Given the description of an element on the screen output the (x, y) to click on. 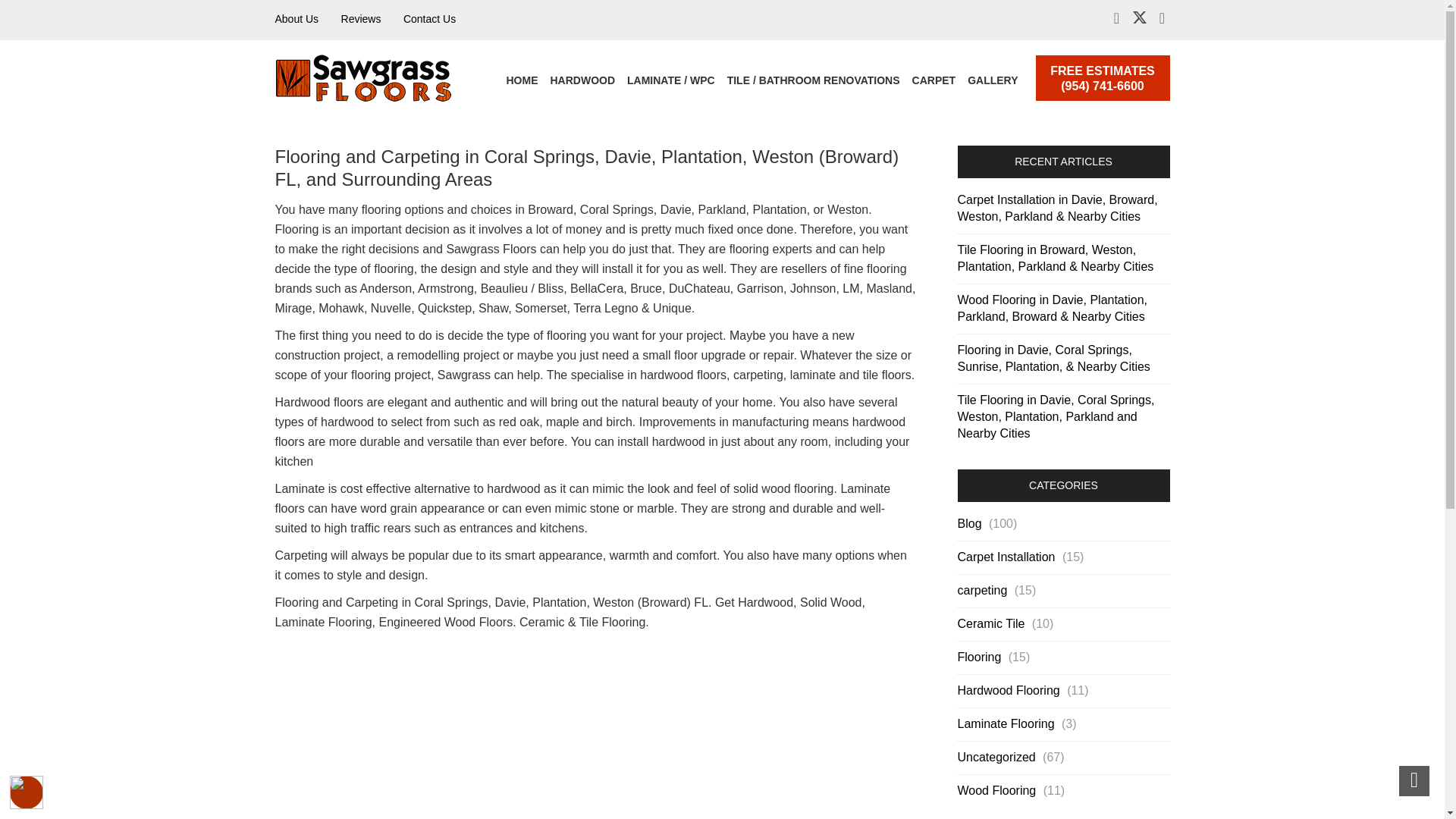
Twitter (1139, 20)
About Us (296, 19)
Contact Us (429, 19)
Carpet Installation (1007, 556)
HOME (522, 80)
Hardwood Flooring (1009, 690)
HARDWOOD (582, 80)
Laminate Flooring (1007, 723)
Accessibility Menu (26, 792)
Uncategorized (997, 757)
Flooring (980, 657)
carpeting (983, 590)
CARPET (933, 80)
Facebook (1116, 19)
Reviews (360, 19)
